Given the description of an element on the screen output the (x, y) to click on. 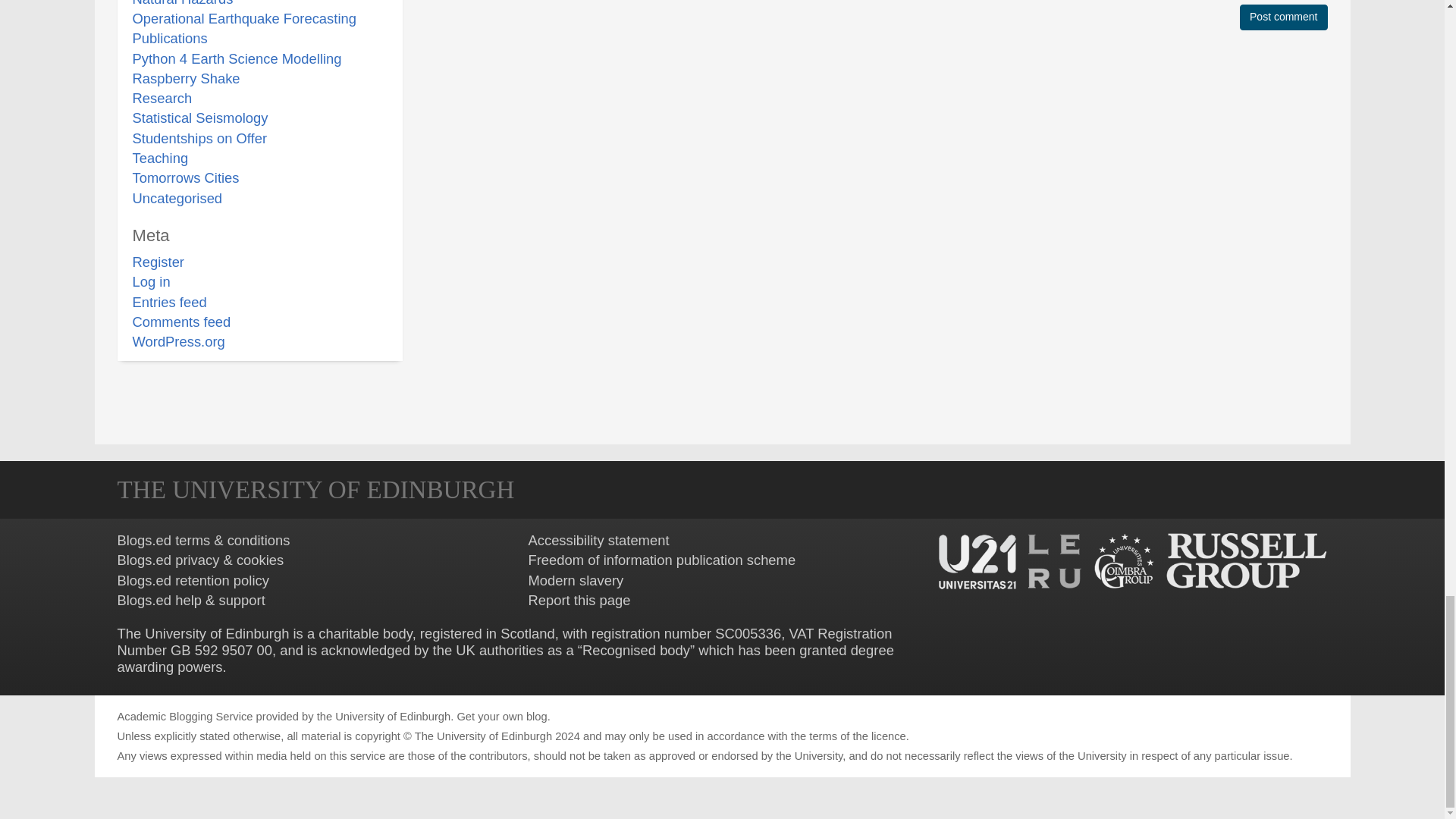
Post comment (1283, 17)
